Given the description of an element on the screen output the (x, y) to click on. 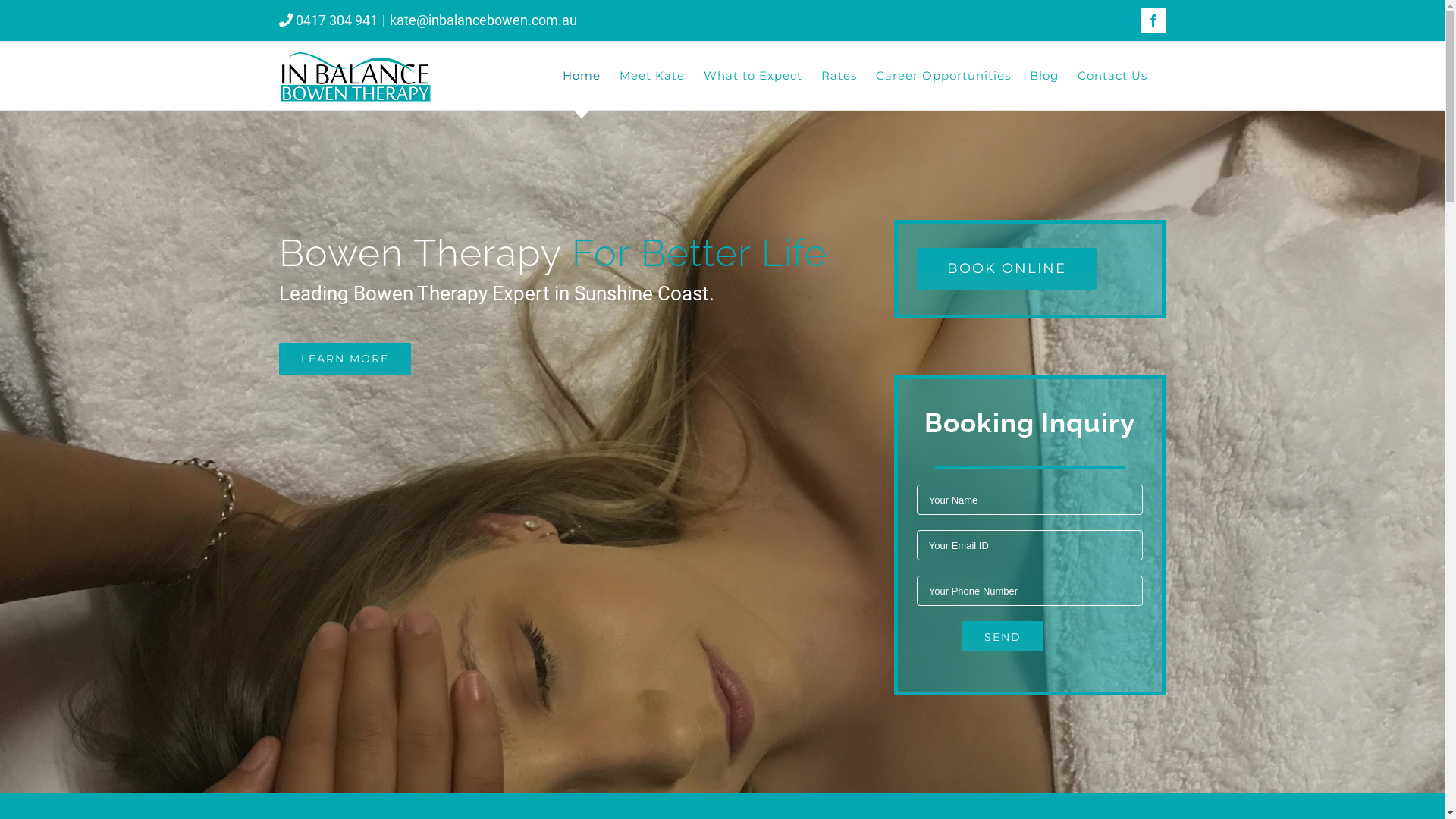
Rates Element type: text (838, 75)
Contact Us Element type: text (1111, 75)
Home Element type: text (581, 75)
LEARN MORE Element type: text (345, 358)
kate@inbalancebowen.com.au Element type: text (483, 20)
Meet Kate Element type: text (651, 75)
SEND Element type: text (1002, 636)
Career Opportunities Element type: text (942, 75)
What to Expect Element type: text (752, 75)
Facebook Element type: text (1153, 20)
0417 304 941 Element type: text (336, 20)
BOOK ONLINE Element type: text (1006, 268)
Blog Element type: text (1043, 75)
